Given the description of an element on the screen output the (x, y) to click on. 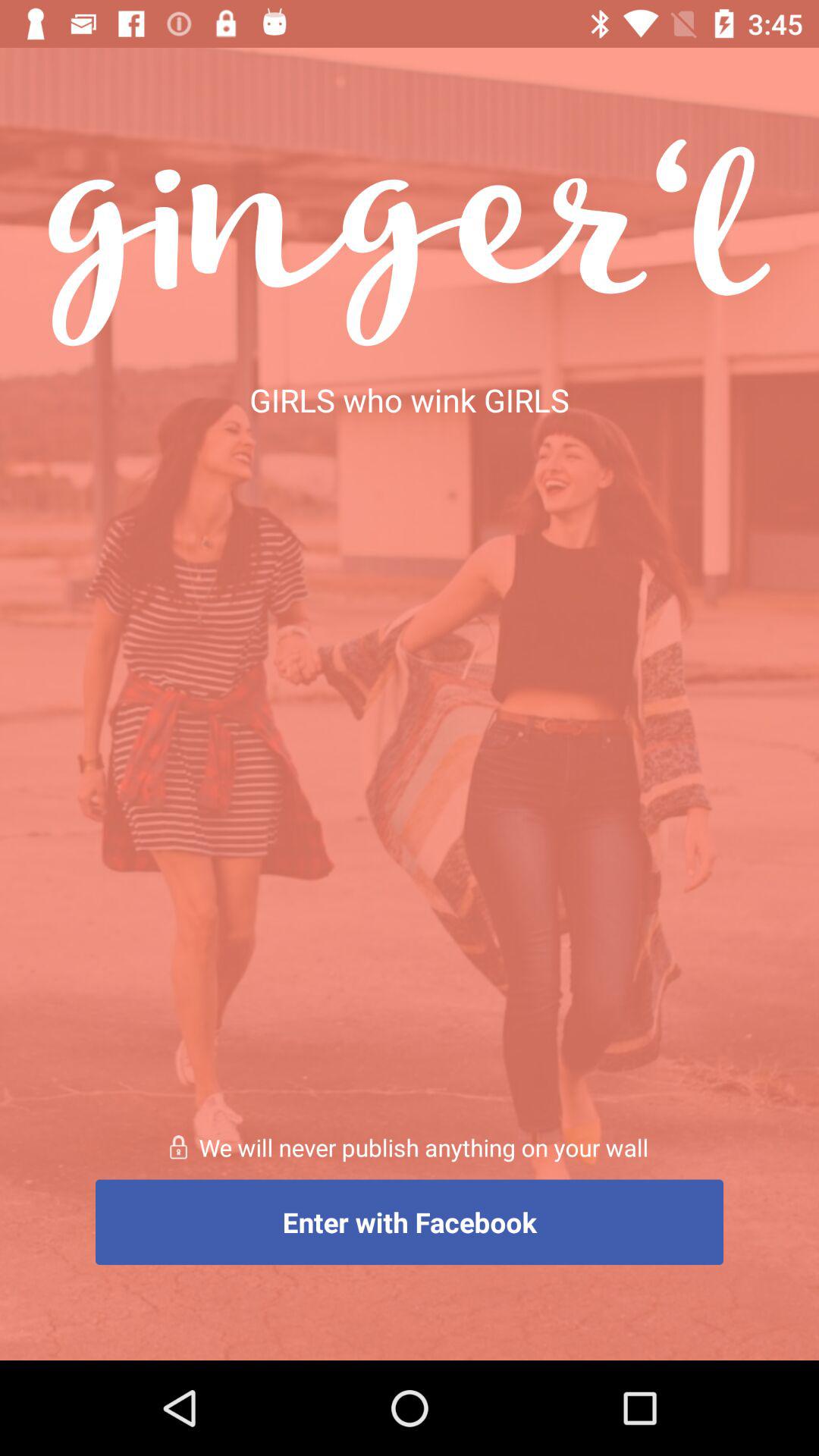
tap item below we will never item (409, 1221)
